Given the description of an element on the screen output the (x, y) to click on. 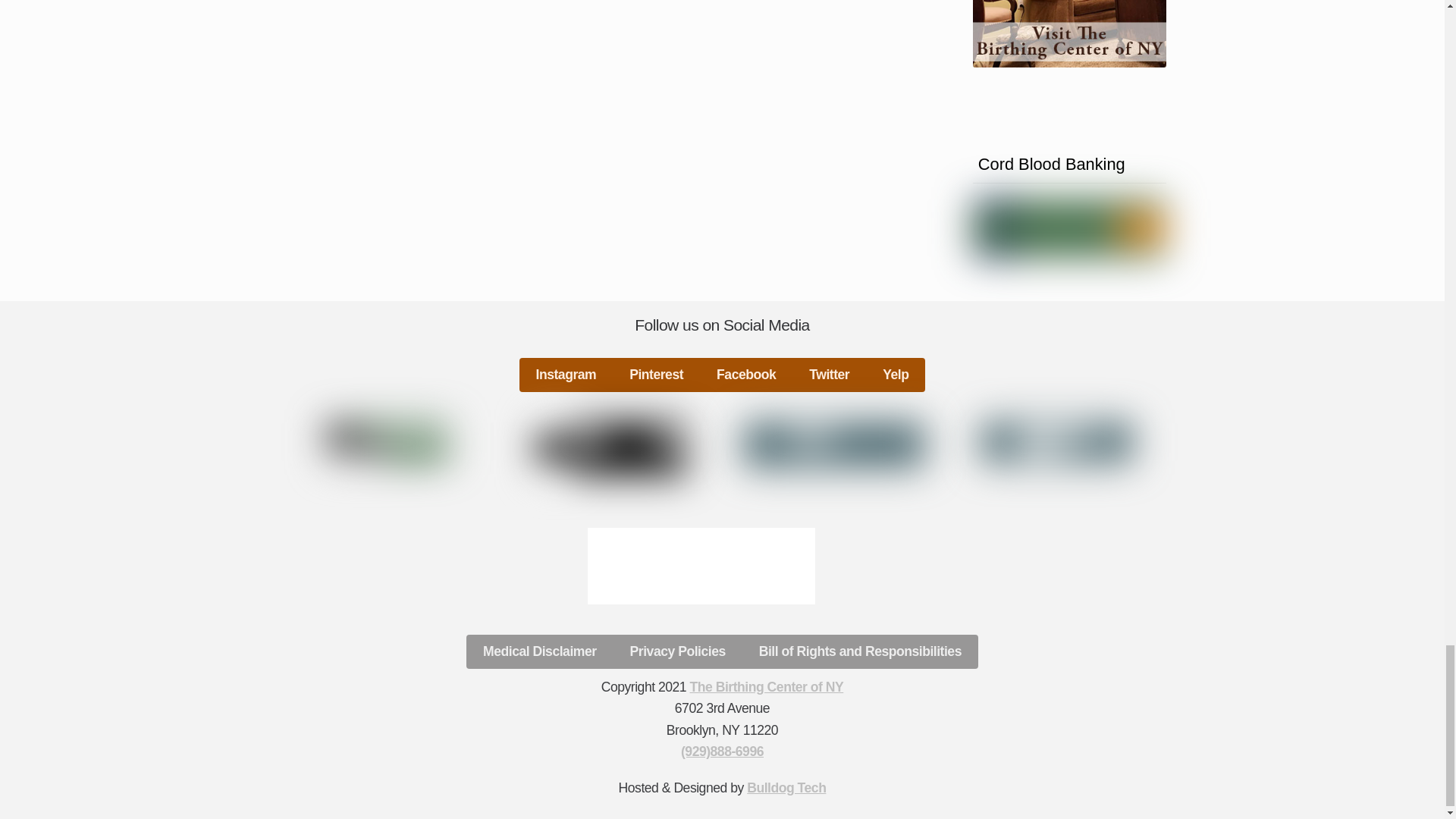
Web Site Medical Information Disclaimer (387, 442)
Web Site Medical Information Disclaimer (1056, 442)
Web Site Medical Information Disclaimer (610, 448)
Web Site Medical Information Disclaimer (834, 444)
Instagram Pinterest Facebook Twitter Yelp (722, 374)
